Given the description of an element on the screen output the (x, y) to click on. 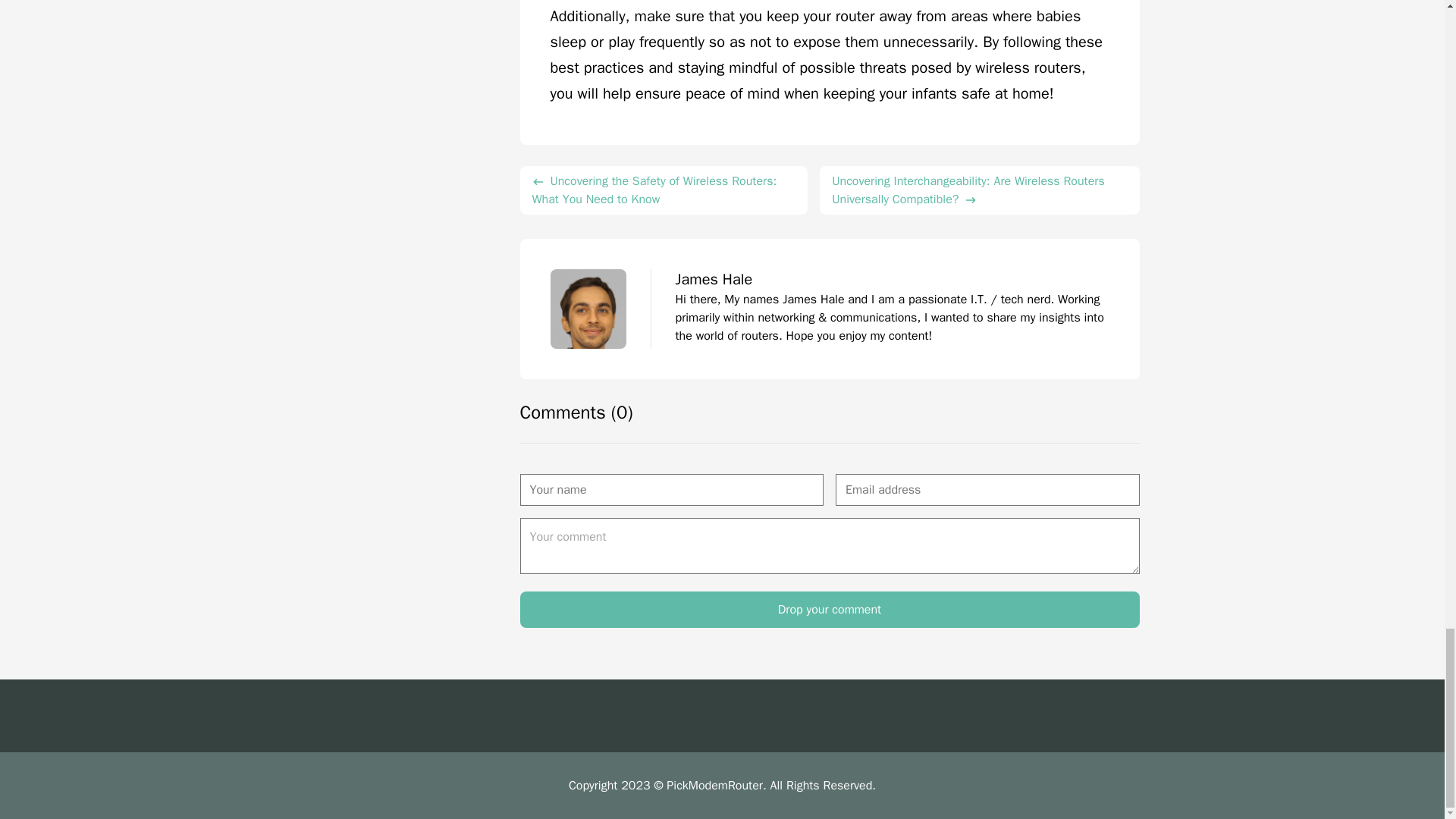
Drop your comment (829, 609)
